Given the description of an element on the screen output the (x, y) to click on. 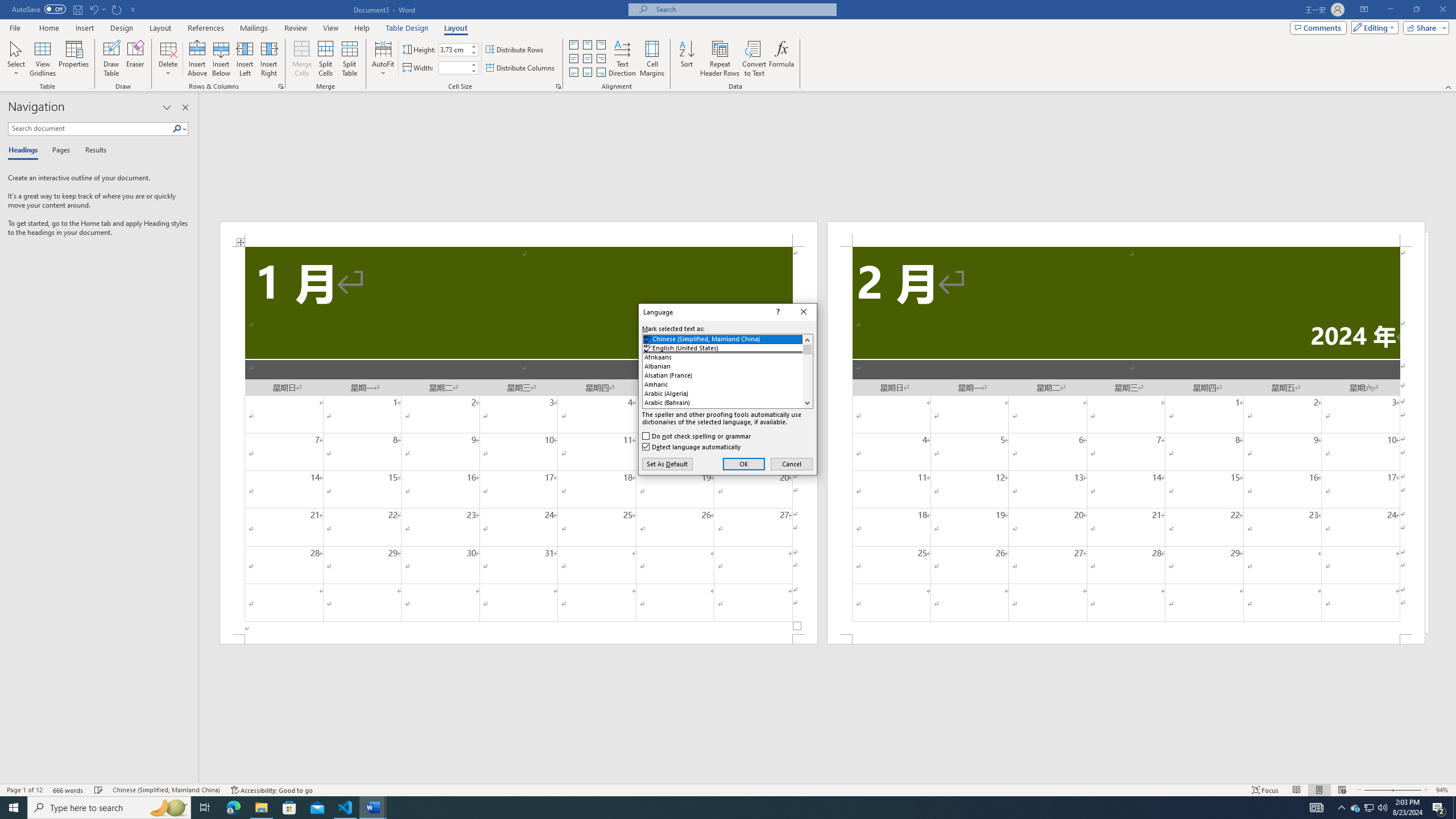
Search (179, 128)
Collapse the Ribbon (1448, 86)
Eraser (135, 58)
Language Chinese (Simplified, Mainland China) (165, 790)
Word Count 666 words (68, 790)
User Promoted Notification Area (1368, 807)
Microsoft Edge (233, 807)
Web Layout (1342, 790)
Comments (1318, 27)
Text Direction (622, 58)
Select (16, 58)
AutoSave (38, 9)
References (205, 28)
Formula... (780, 58)
Convert to Text... (754, 58)
